Given the description of an element on the screen output the (x, y) to click on. 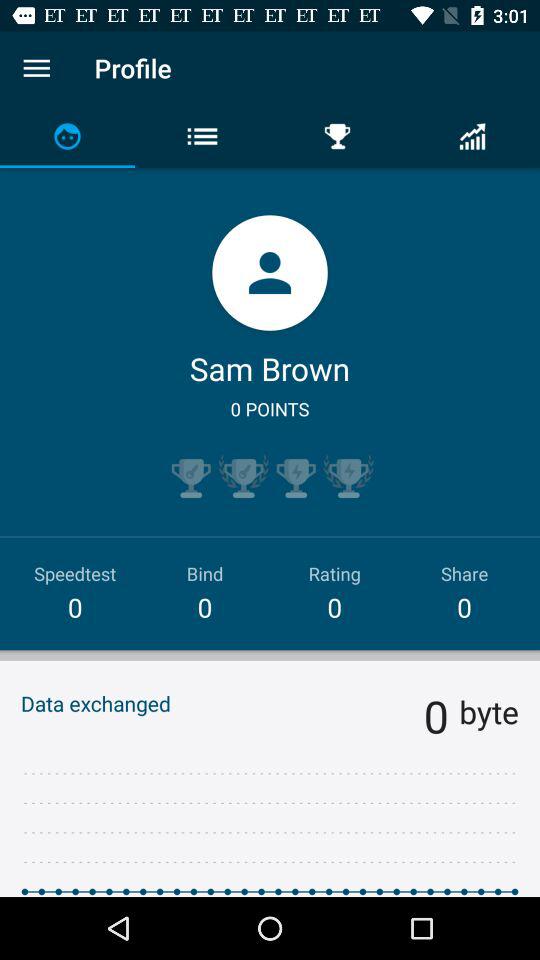
open the menu (36, 68)
